Given the description of an element on the screen output the (x, y) to click on. 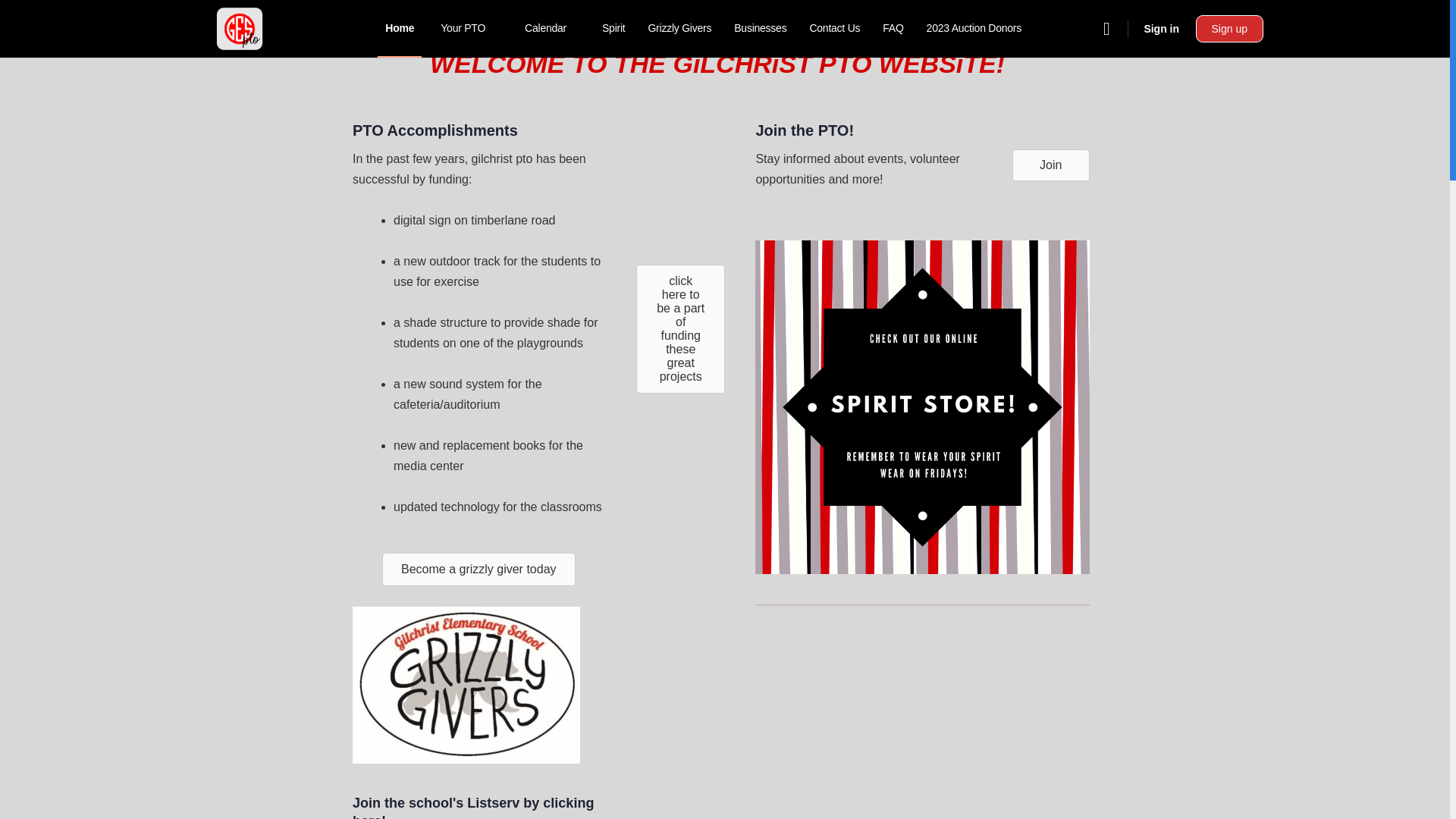
Calendar (551, 28)
2023 Auction Donors (973, 28)
Contact Us (834, 28)
Sign in (1161, 28)
Grizzly Givers (679, 28)
Spirit Store (922, 407)
Businesses (759, 28)
Sign up (1229, 28)
Your PTO (468, 28)
Grizzly Givers small (465, 684)
